Given the description of an element on the screen output the (x, y) to click on. 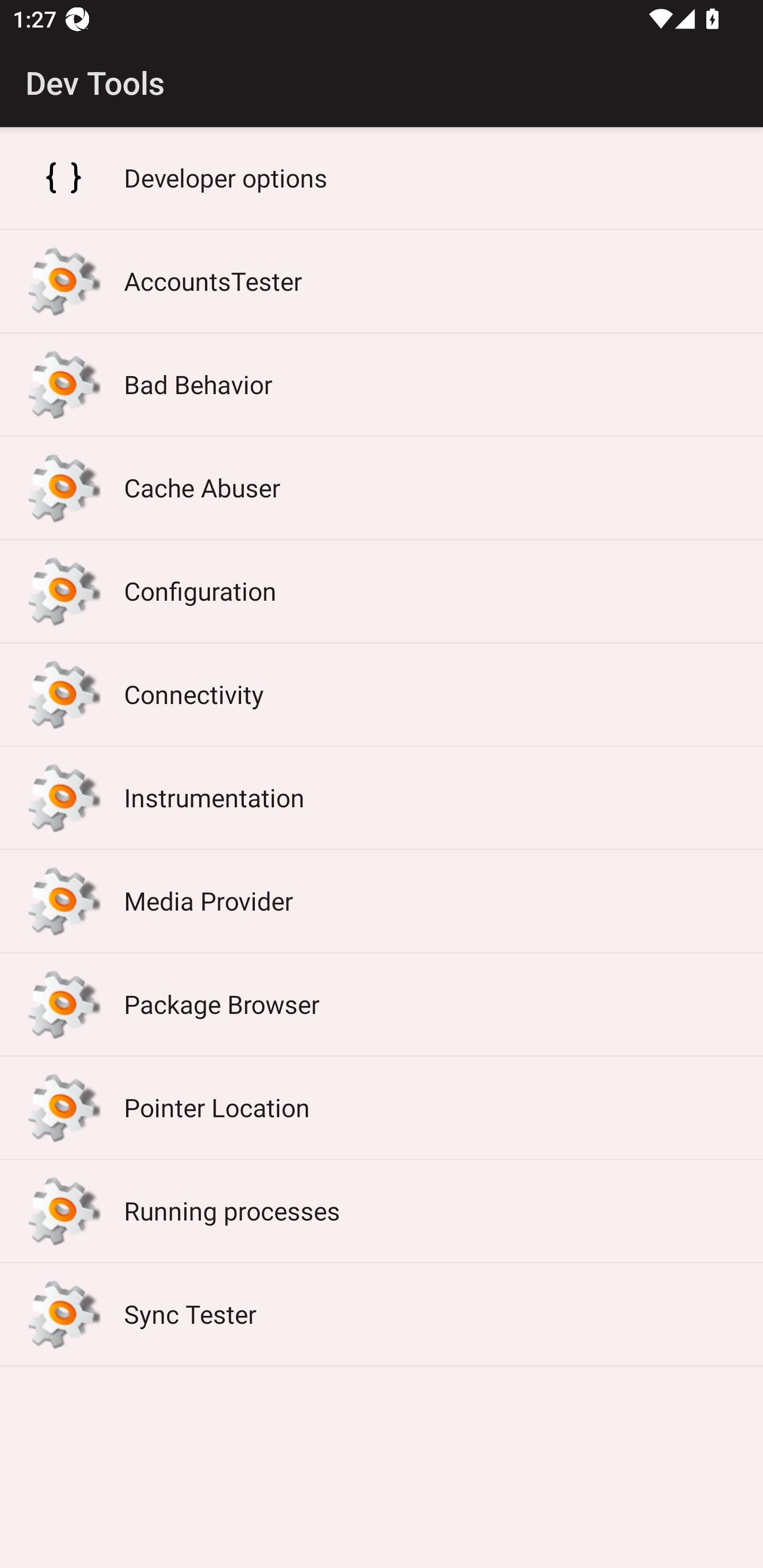
Developer options (381, 177)
AccountsTester (381, 281)
Bad Behavior (381, 384)
Cache Abuser (381, 488)
Configuration (381, 590)
Connectivity (381, 693)
Instrumentation (381, 797)
Media Provider (381, 900)
Package Browser (381, 1004)
Pointer Location (381, 1107)
Running processes (381, 1211)
Sync Tester (381, 1314)
